Given the description of an element on the screen output the (x, y) to click on. 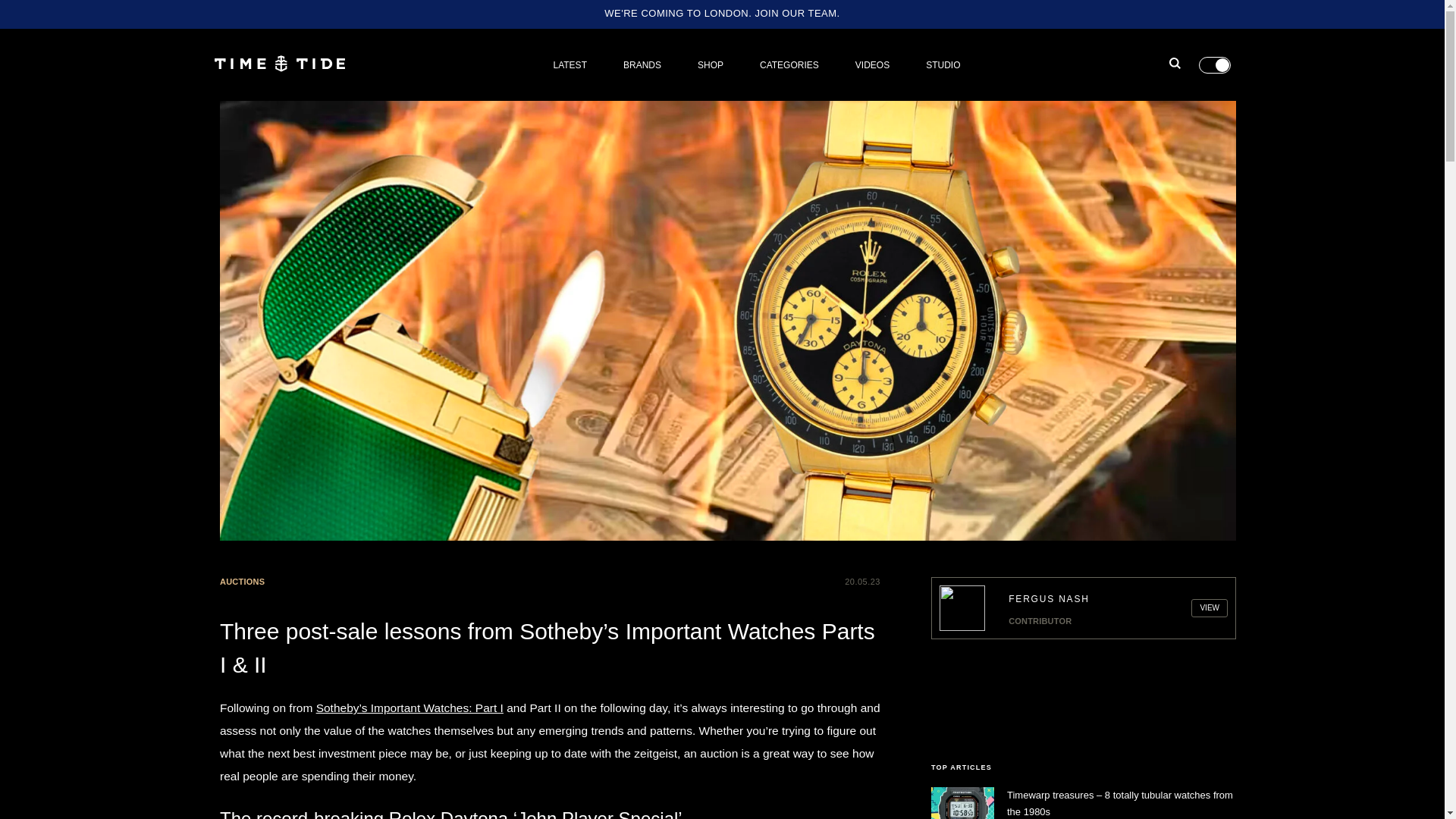
VIEW (1209, 607)
VIDEOS (872, 64)
WE'RE COMING TO LONDON. JOIN OUR TEAM. (722, 12)
LATEST (569, 64)
Search (1138, 111)
AUCTIONS (241, 581)
BRANDS (642, 64)
CATEGORIES (789, 64)
SHOP (710, 64)
STUDIO (942, 64)
